Given the description of an element on the screen output the (x, y) to click on. 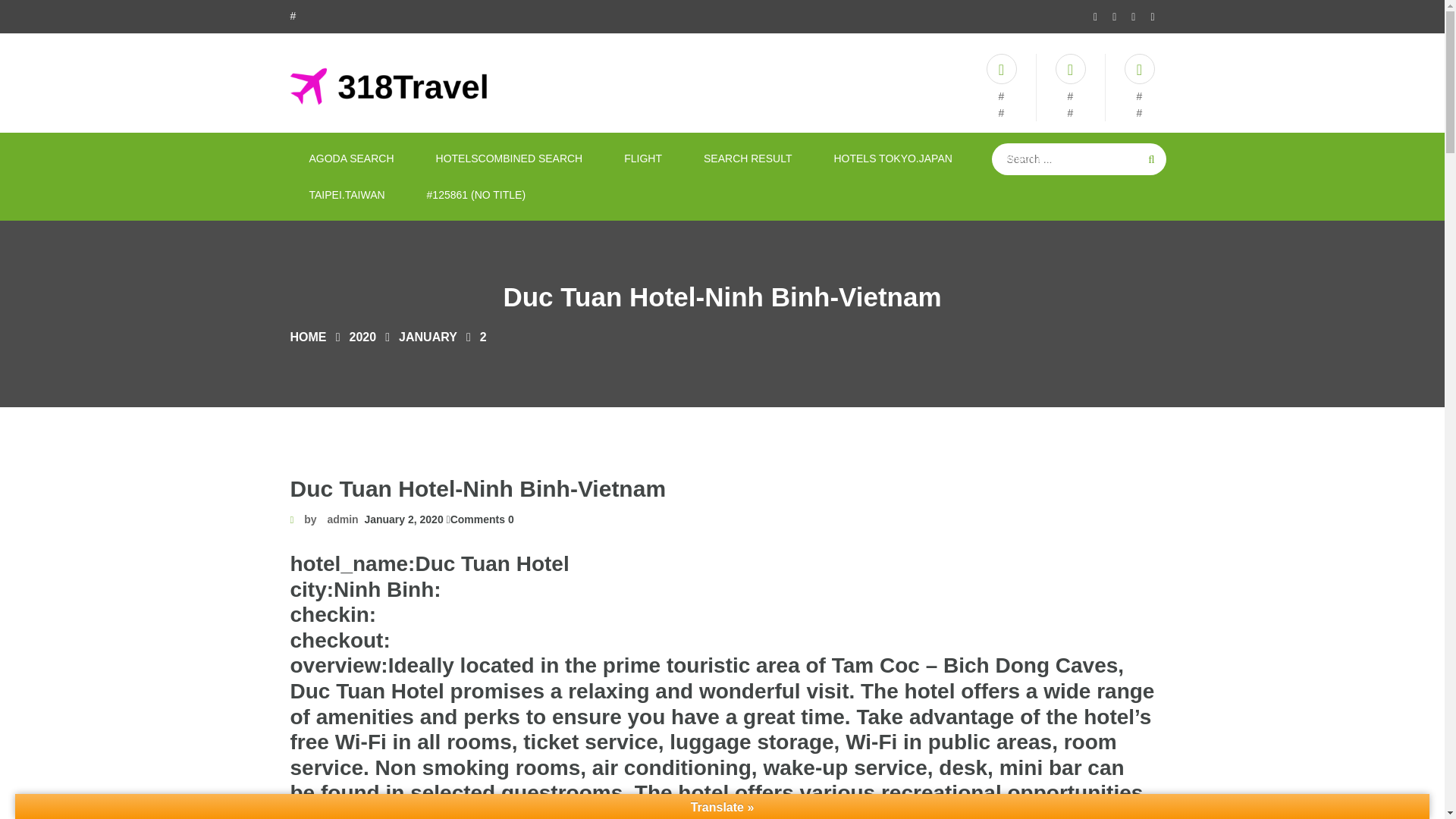
Taipei.Taiwan (346, 194)
by (303, 519)
Comments 0 (478, 519)
admin (342, 519)
hotelscombined search (509, 158)
FLIGHT (643, 158)
AGODA SEARCH (350, 158)
Agoda search (350, 158)
HOME (307, 336)
January 2, 2020 (401, 519)
2020 (362, 336)
Search Result (747, 158)
SEARCH RESULT (747, 158)
JANUARY (427, 336)
Flight (643, 158)
